Given the description of an element on the screen output the (x, y) to click on. 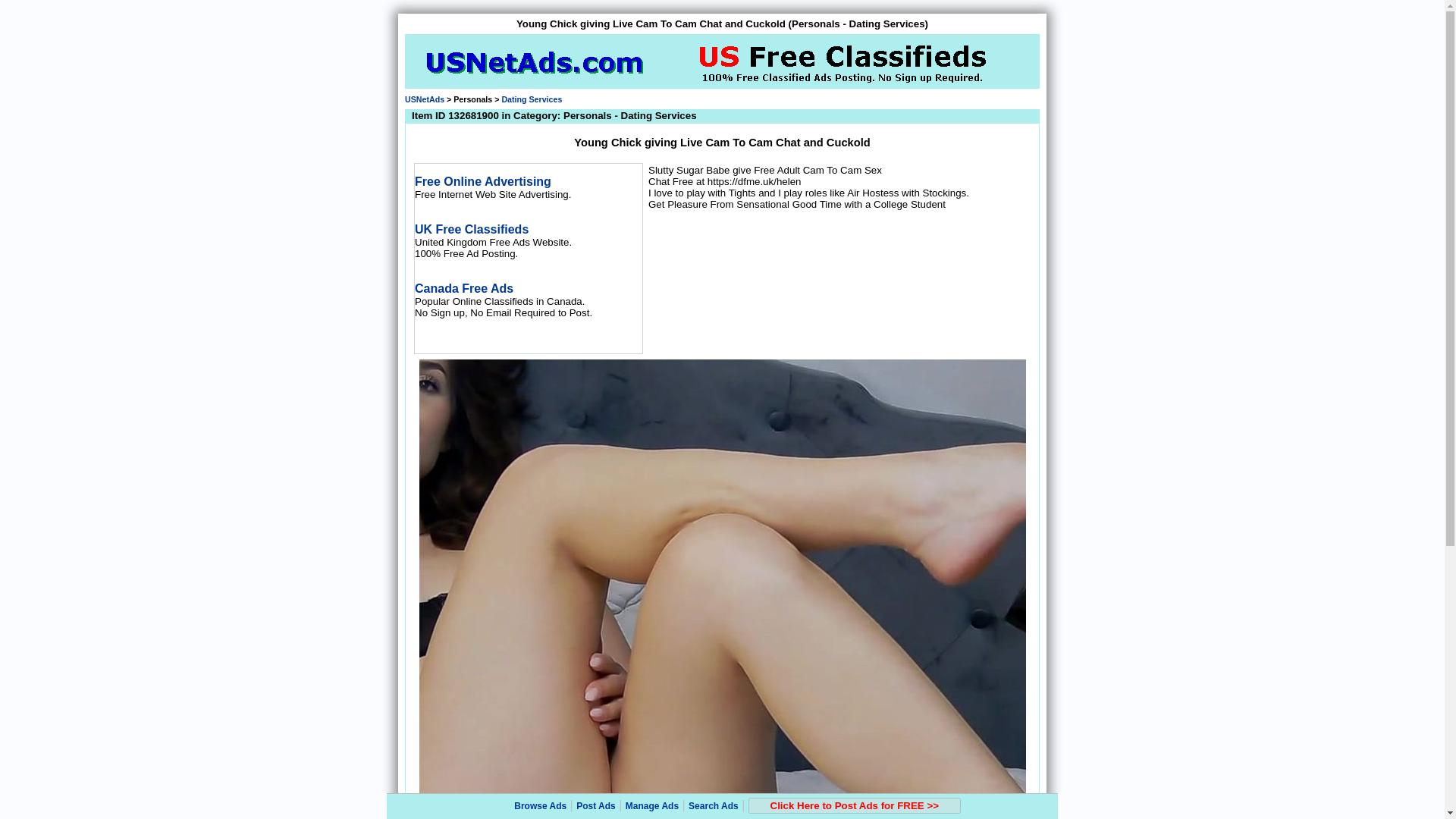
Free Online Advertising (482, 181)
Canada Free Ads (463, 287)
Dating Services (531, 99)
Manage Ads (652, 805)
UK Free Classifieds (471, 228)
USNetAds (424, 99)
Search Ads (713, 805)
Browse Ads (539, 805)
Go Back to USNetAds.com Home Page (424, 99)
Post Ads (595, 805)
